Given the description of an element on the screen output the (x, y) to click on. 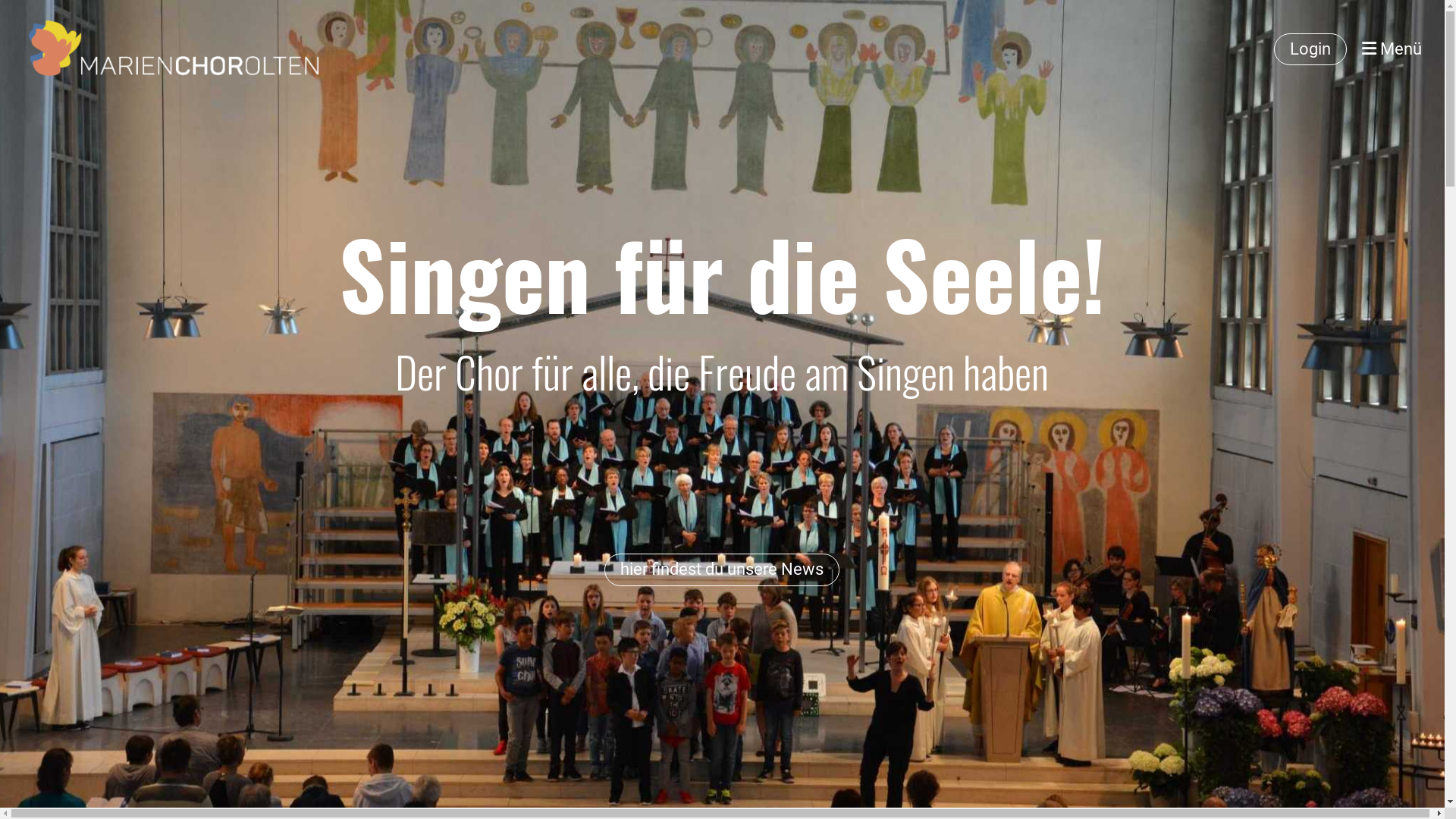
hier findest du unsere News Element type: text (721, 569)
Login Element type: text (1310, 49)
